Given the description of an element on the screen output the (x, y) to click on. 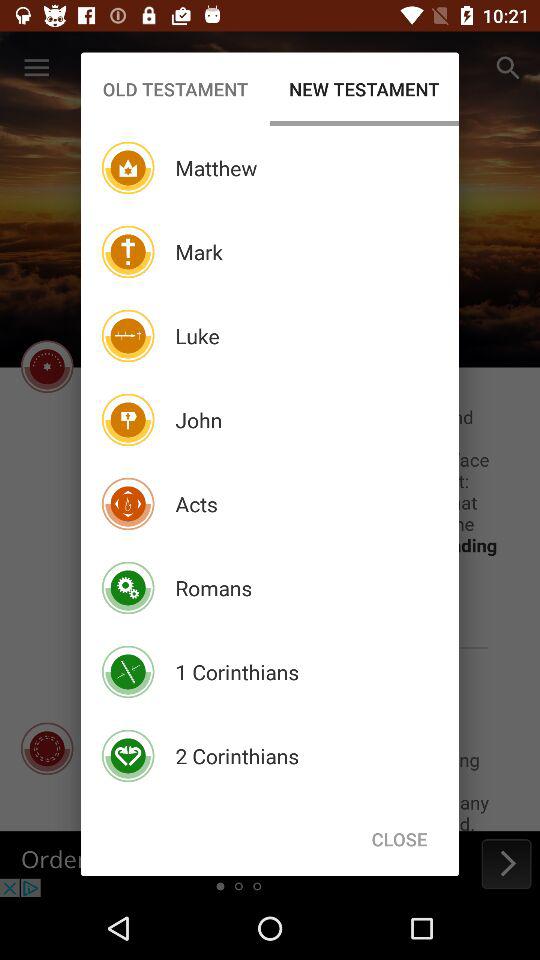
tap the icon below the romans (237, 671)
